Given the description of an element on the screen output the (x, y) to click on. 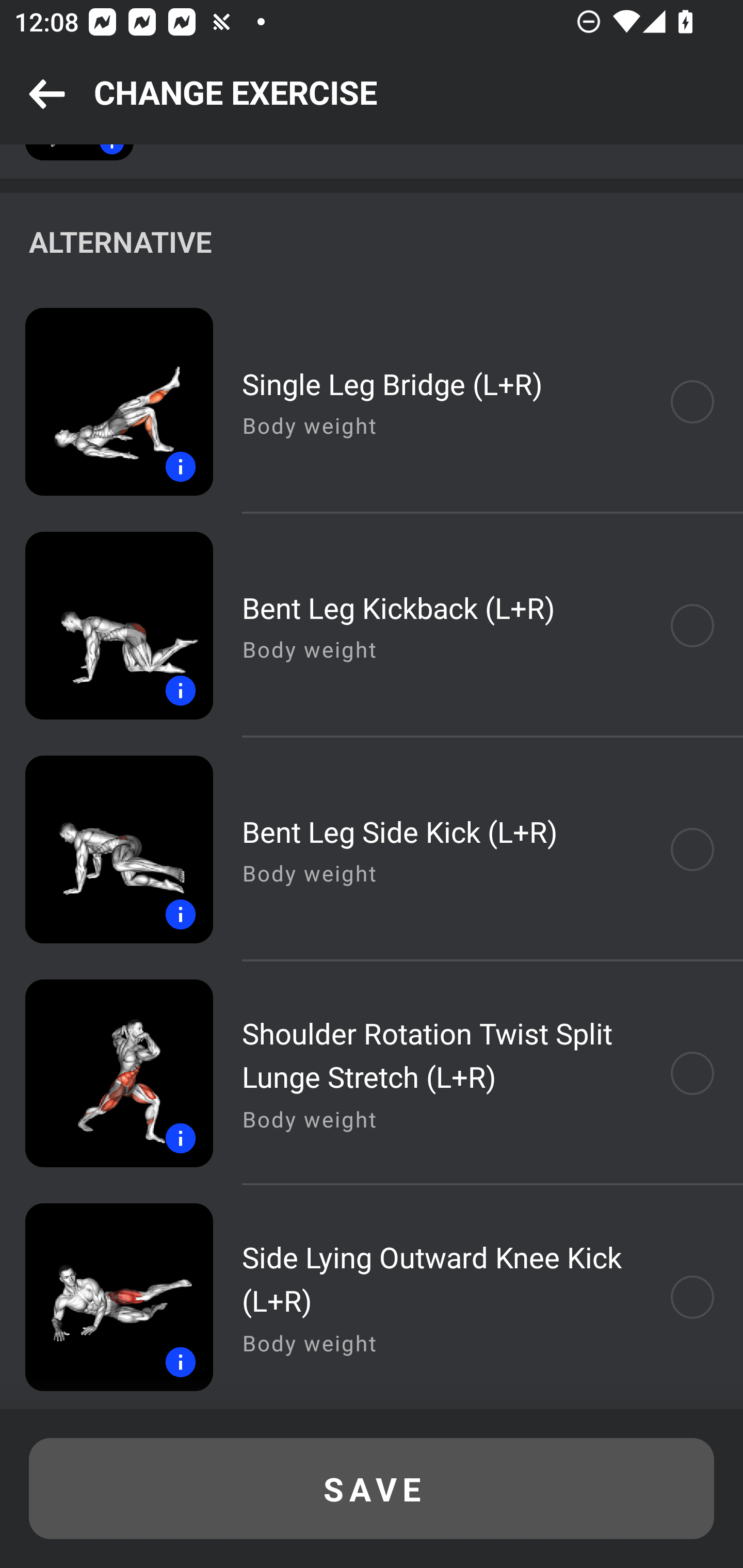
Navigation icon (46, 94)
details Single Leg Bridge (L+R) Body weight (371, 402)
details (106, 402)
details Bent Leg Kickback (L+R) Body weight (371, 625)
details (106, 625)
details Bent Leg Side Kick (L+R) Body weight (371, 848)
details (106, 848)
details (106, 1073)
details (106, 1297)
SAVE (371, 1488)
